Given the description of an element on the screen output the (x, y) to click on. 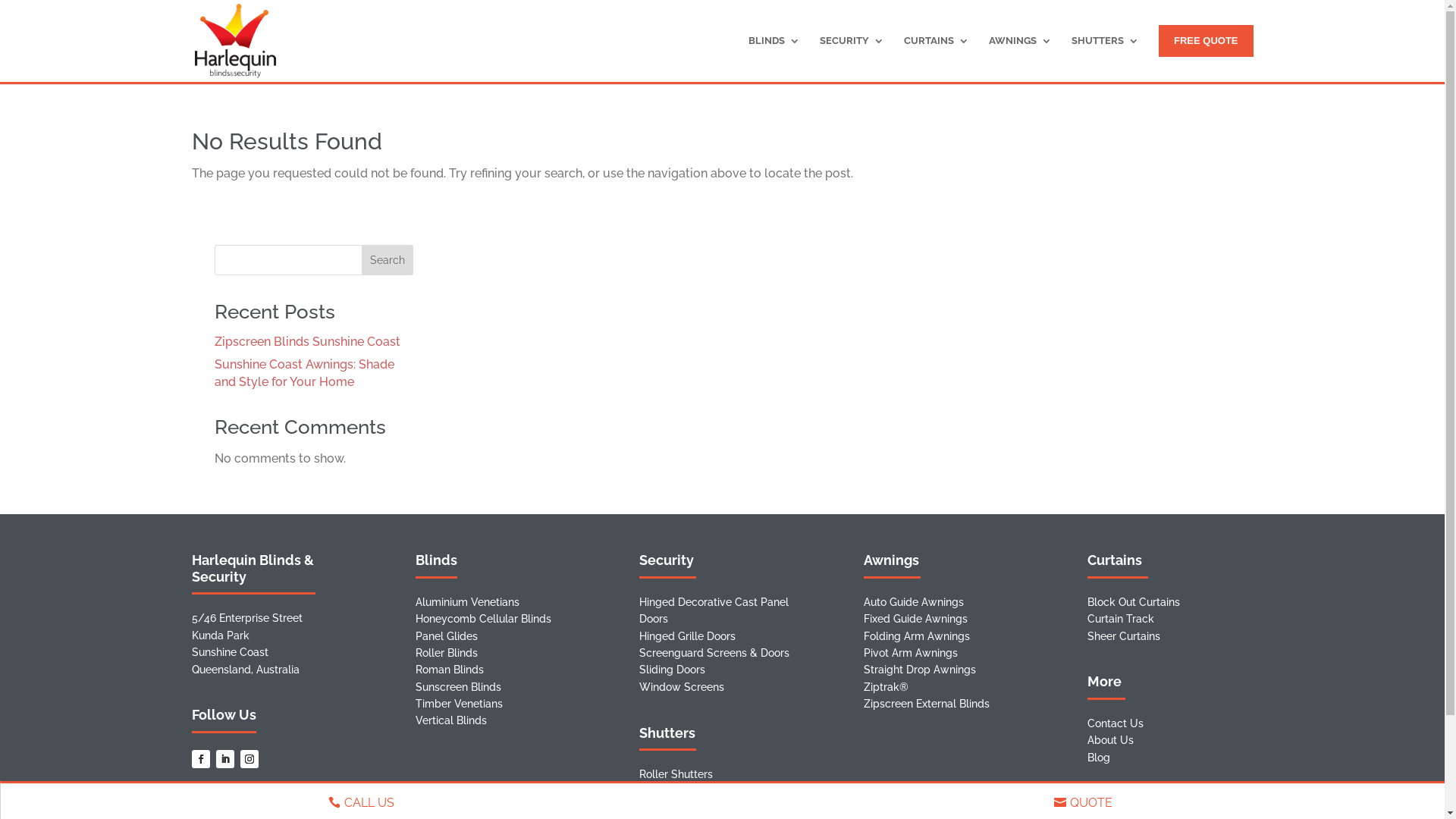
Zipscreen External Blinds Element type: text (926, 703)
Sunscreen Blinds Element type: text (458, 686)
Panel Glides Element type: text (446, 636)
Hinged Decorative Cast Panel Doors Element type: text (713, 610)
Search Element type: text (387, 259)
Sliding Doors Element type: text (672, 669)
Curtain Track Element type: text (1120, 618)
Blog Element type: text (1098, 757)
Aluminium Venetians Element type: text (467, 602)
Pivot Arm Awnings Element type: text (910, 652)
Sheer Curtains Element type: text (1123, 636)
Straight Drop Awnings Element type: text (919, 669)
Zipscreen Blinds Sunshine Coast Element type: text (306, 341)
Roller Blinds Element type: text (446, 652)
Plantation Shutters Element type: text (686, 791)
Hinged Grille Doors Element type: text (687, 636)
Sunshine Coast Awnings: Shade and Style for Your Home Element type: text (303, 372)
Block Out Curtains Element type: text (1133, 602)
Timber Venetians Element type: text (458, 703)
SECURITY Element type: text (851, 56)
Screenguard Screens & Doors Element type: text (714, 652)
Vertical Blinds Element type: text (450, 720)
Follow on LinkedIn Element type: hover (224, 758)
BLINDS Element type: text (774, 56)
Contact Us Element type: text (1115, 723)
Auto Guide Awnings Element type: text (913, 602)
AWNINGS Element type: text (1019, 56)
Follow on Facebook Element type: hover (200, 758)
Roman Blinds Element type: text (449, 669)
FREE QUOTE Element type: text (1205, 40)
Follow on Instagram Element type: hover (248, 758)
Fixed Guide Awnings Element type: text (915, 618)
SHUTTERS Element type: text (1105, 56)
CURTAINS Element type: text (936, 56)
Folding Arm Awnings Element type: text (916, 636)
Roller Shutters Element type: text (675, 774)
Window Screens Element type: text (681, 686)
Honeycomb Cellular Blinds Element type: text (483, 618)
About Us Element type: text (1110, 740)
